Given the description of an element on the screen output the (x, y) to click on. 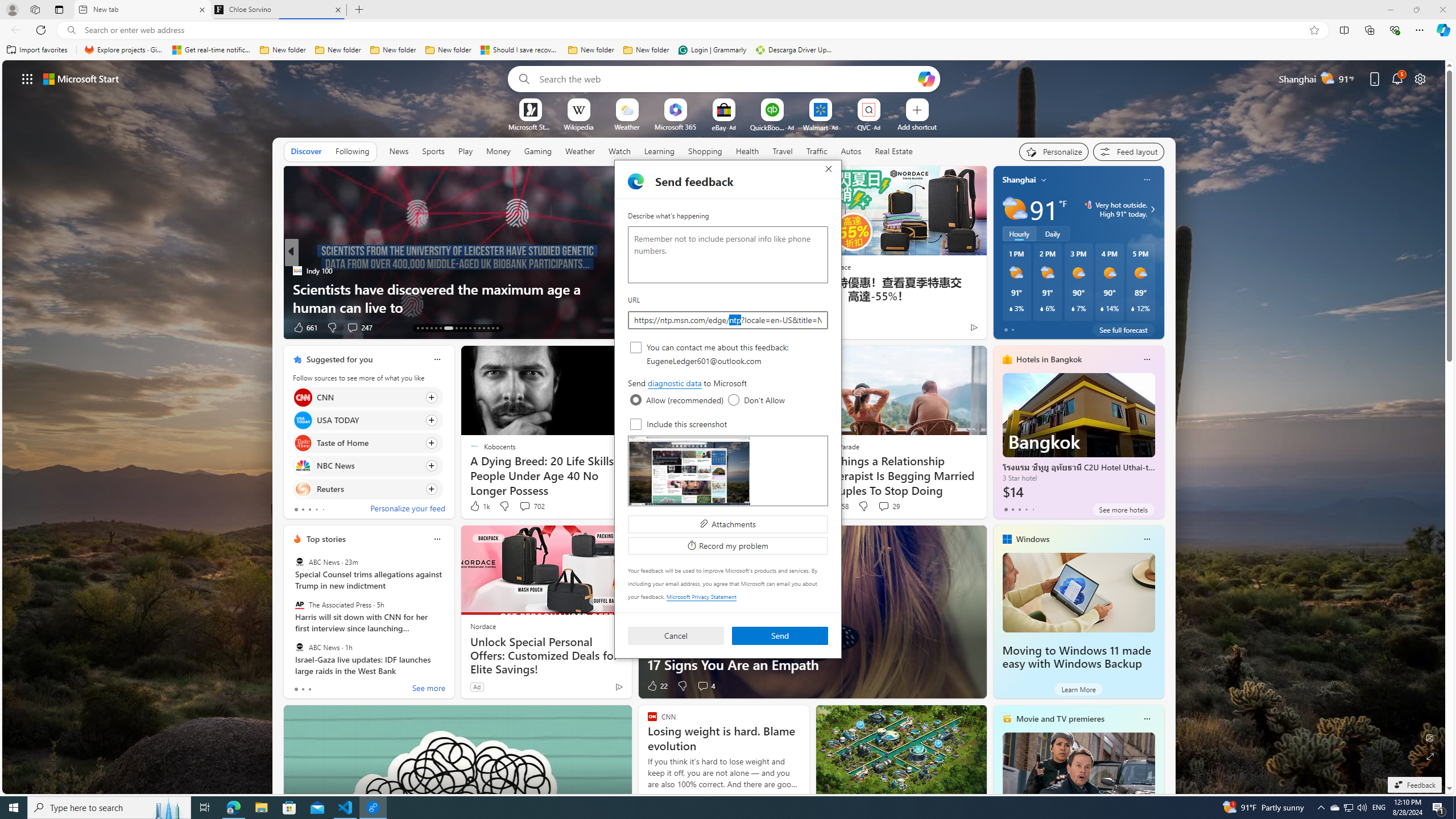
File Explorer (261, 807)
tab-0 (295, 689)
USA TODAY (302, 419)
AutomationID: tab-17 (435, 328)
Hotels in Bangkok (1048, 359)
Class: icon-img (1347, 807)
Start (1146, 718)
tab-4 (13, 807)
AutomationID: tab-15 (1032, 509)
User Promoted Notification Area (426, 328)
View comments 42 Comment (1347, 807)
